Given the description of an element on the screen output the (x, y) to click on. 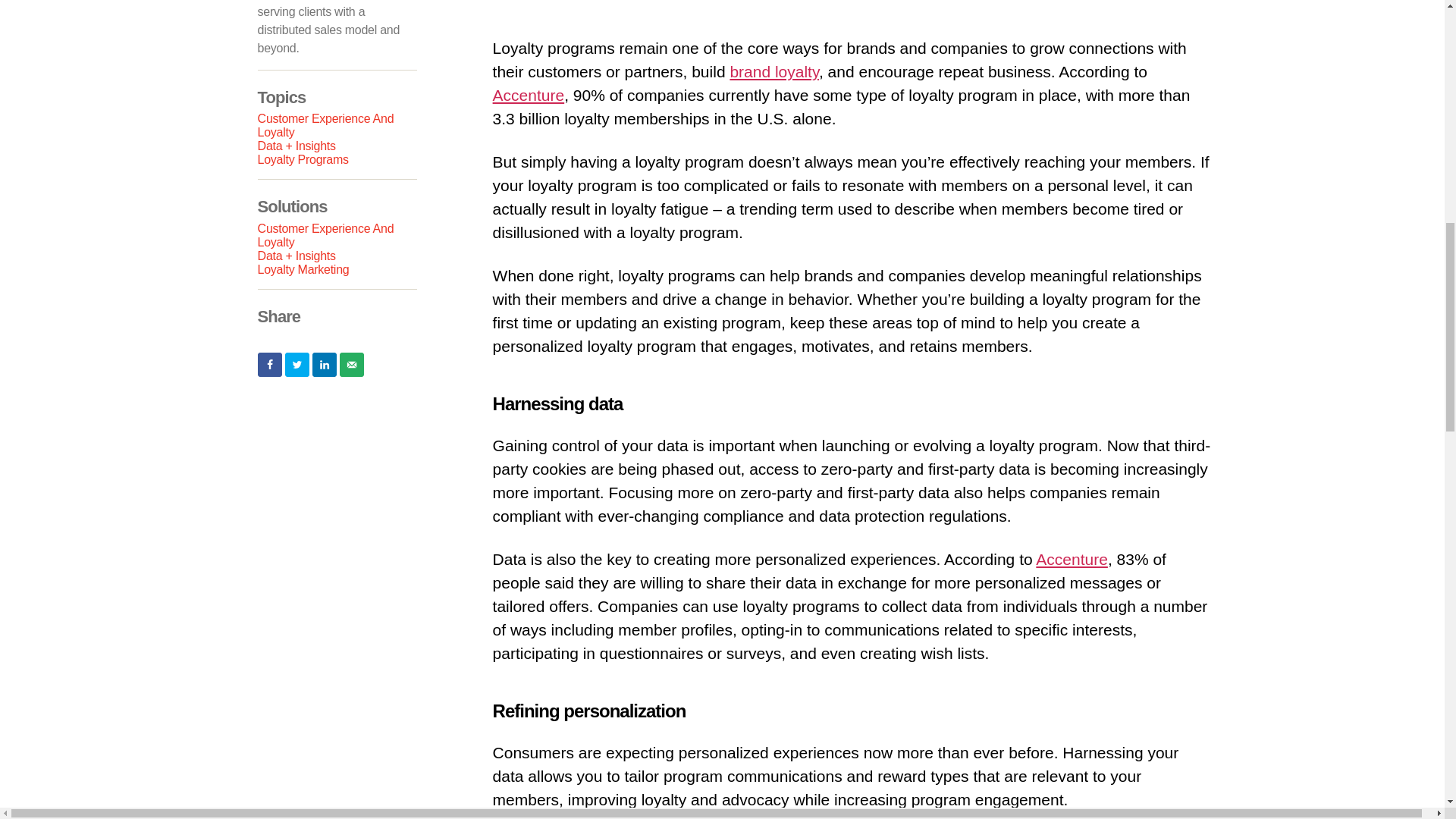
Share on Twitter (296, 363)
Share on Facebook (269, 363)
Share on LinkedIn (324, 363)
Send over email (351, 363)
